Given the description of an element on the screen output the (x, y) to click on. 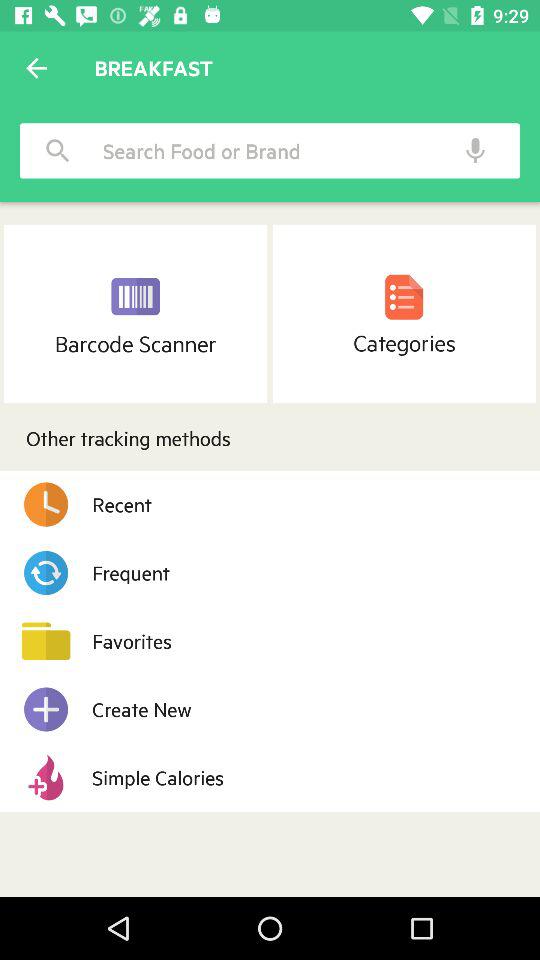
tap the item below the breakfast icon (263, 150)
